Given the description of an element on the screen output the (x, y) to click on. 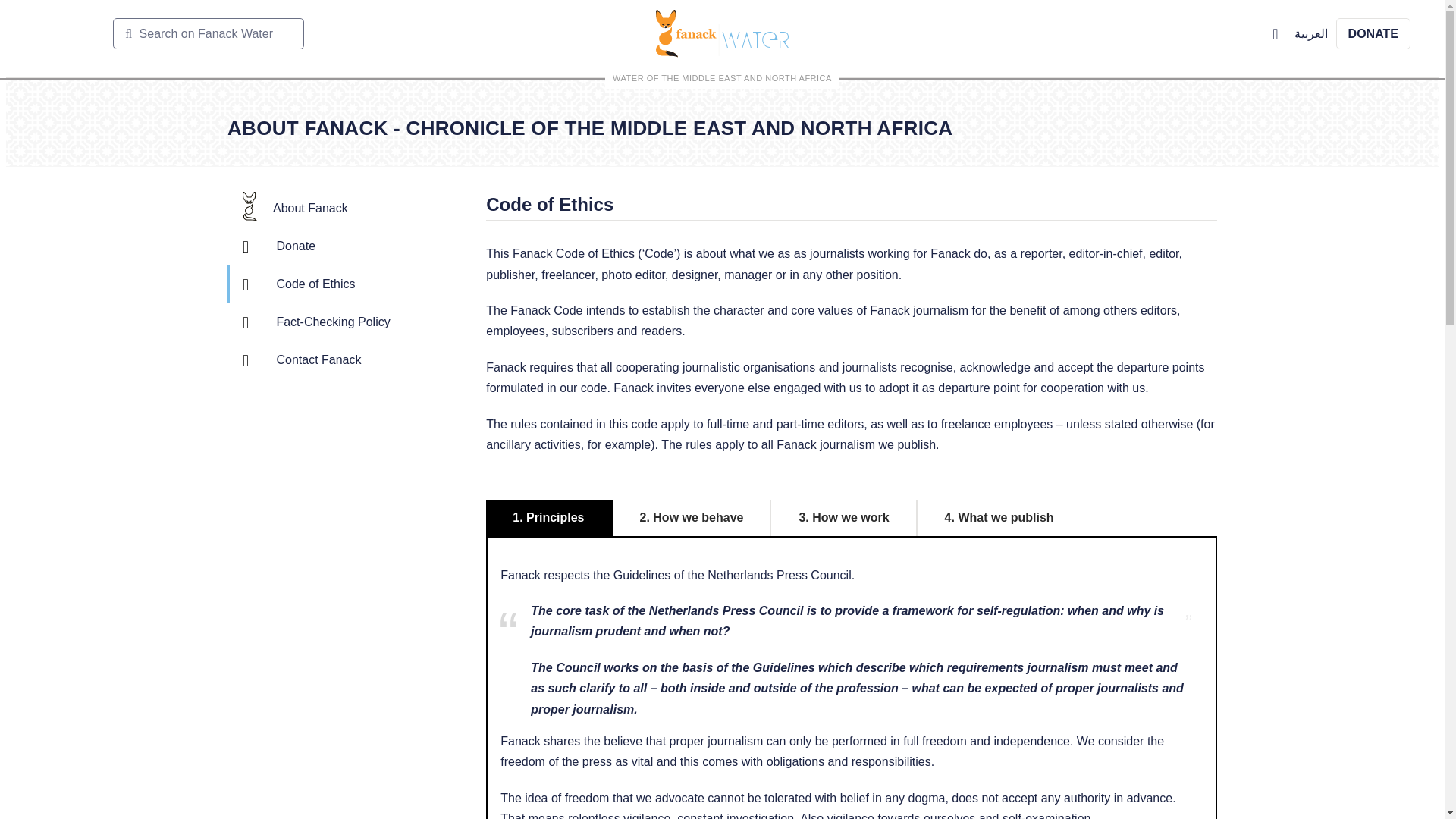
Menu (61, 33)
Search on Fanack Water (208, 33)
DONATE (1373, 33)
